Given the description of an element on the screen output the (x, y) to click on. 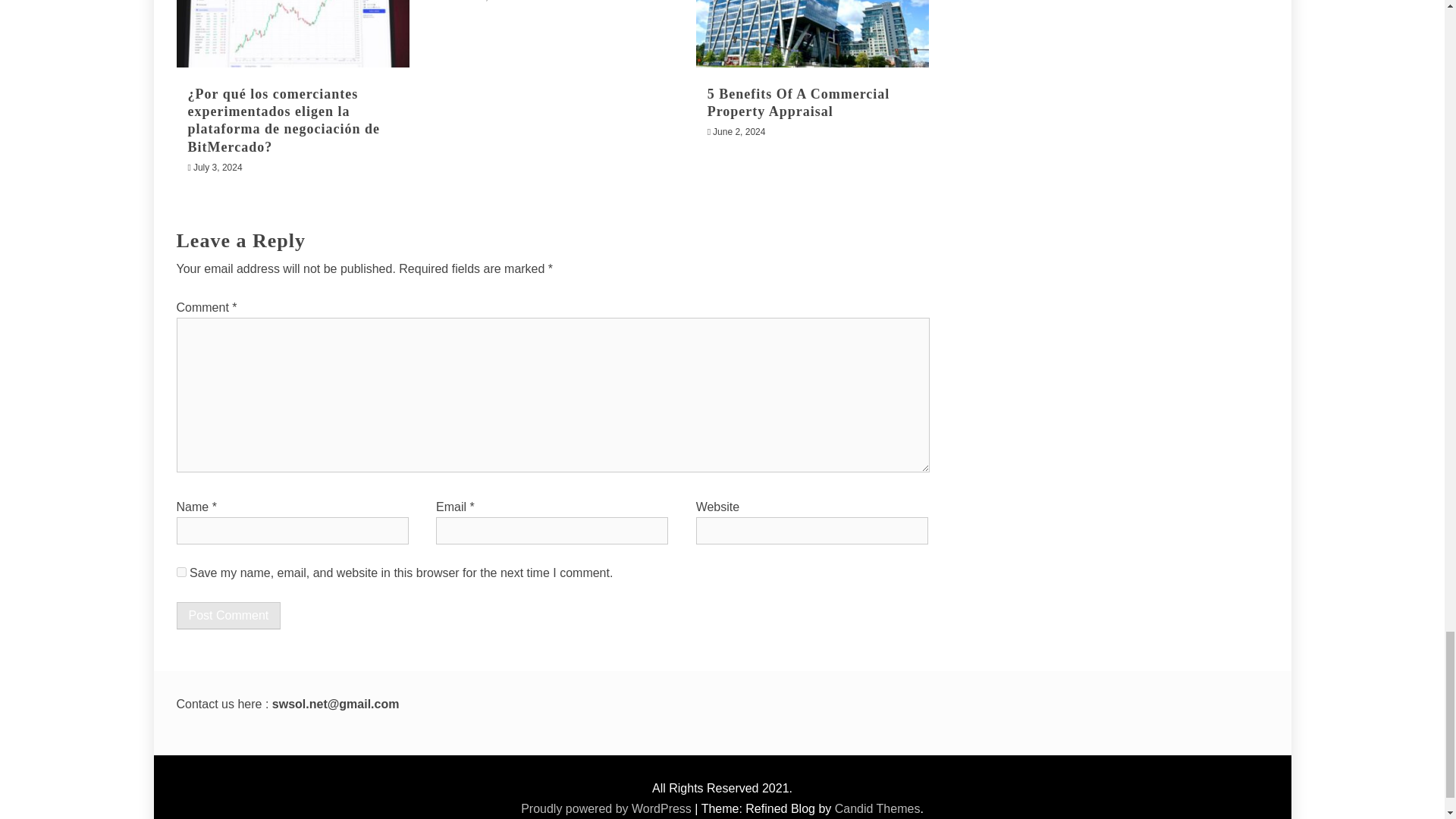
June 21, 2024 (481, 1)
5 Benefits Of A Commercial Property Appraisal (798, 102)
yes (181, 572)
Post Comment (228, 615)
July 3, 2024 (218, 167)
Post Comment (228, 615)
June 2, 2024 (739, 131)
